Given the description of an element on the screen output the (x, y) to click on. 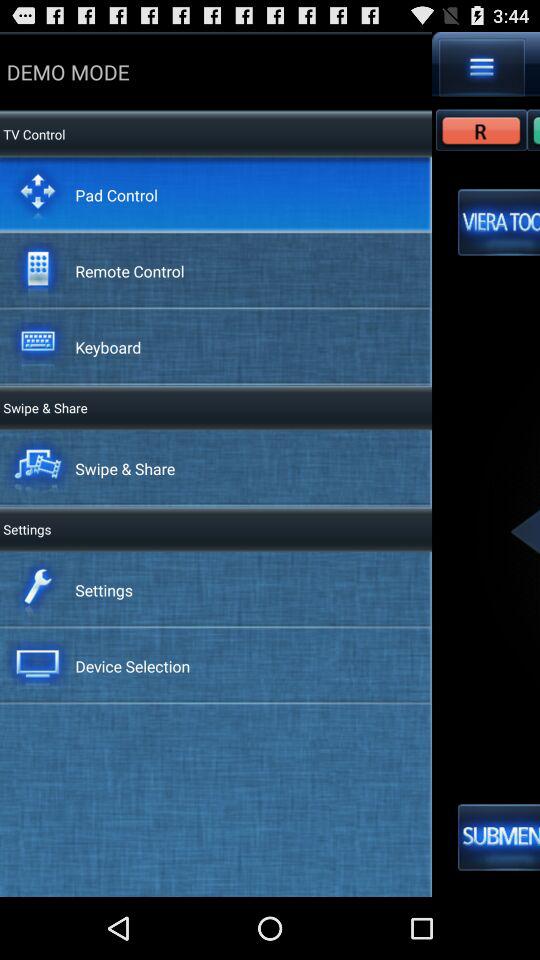
flip until the  tv control icon (32, 133)
